Given the description of an element on the screen output the (x, y) to click on. 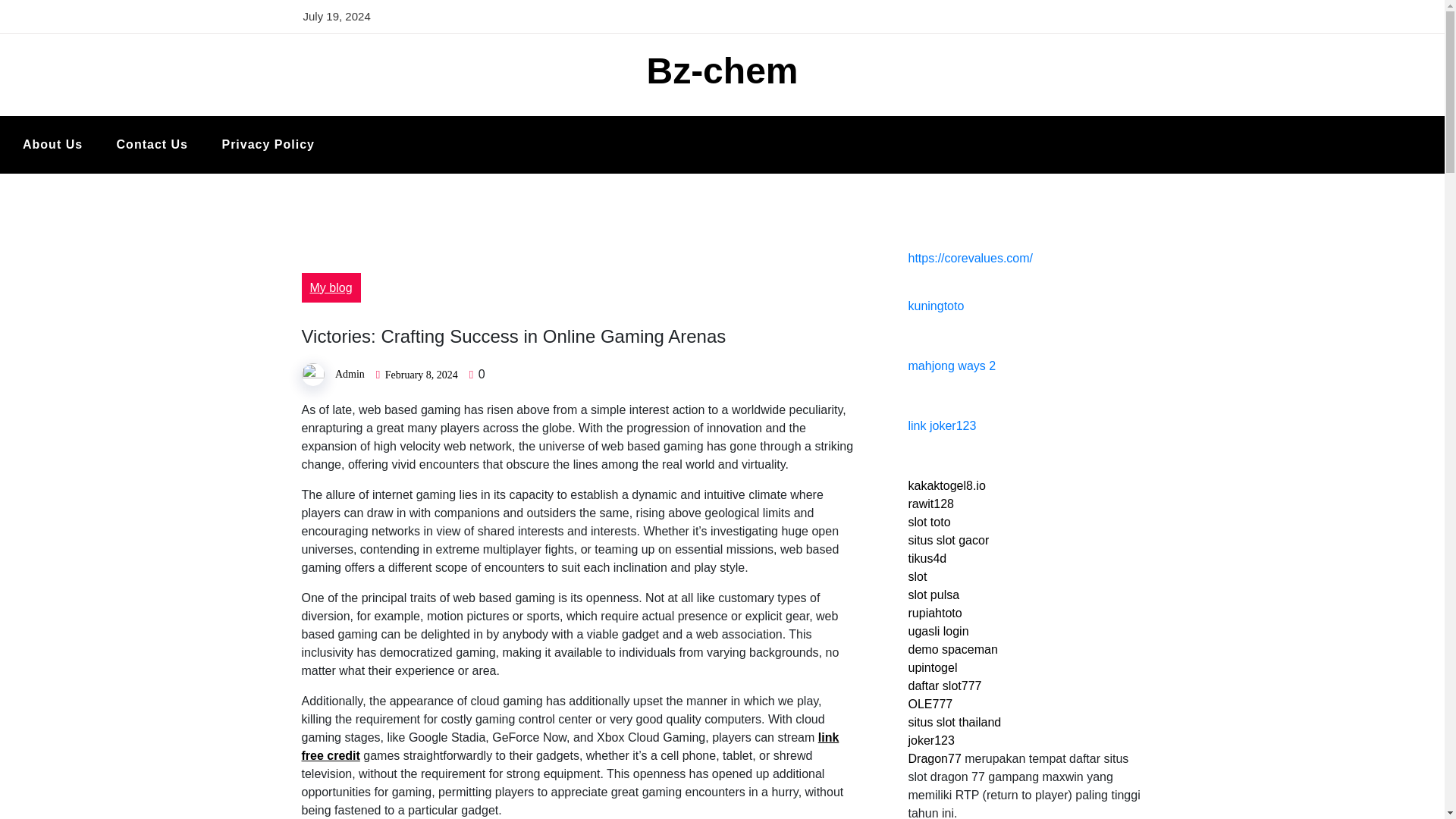
kuningtoto (935, 305)
link joker123 (942, 425)
situs slot thailand (954, 721)
Bz-chem (721, 70)
link free credit (570, 746)
About Us (52, 144)
mahjong ways 2 (951, 365)
February 8, 2024 (421, 374)
rupiahtoto (935, 612)
slot toto (929, 521)
demo spaceman (952, 649)
Dragon77 (934, 758)
Admin (349, 374)
slot pulsa (933, 594)
tikus4d (927, 558)
